Given the description of an element on the screen output the (x, y) to click on. 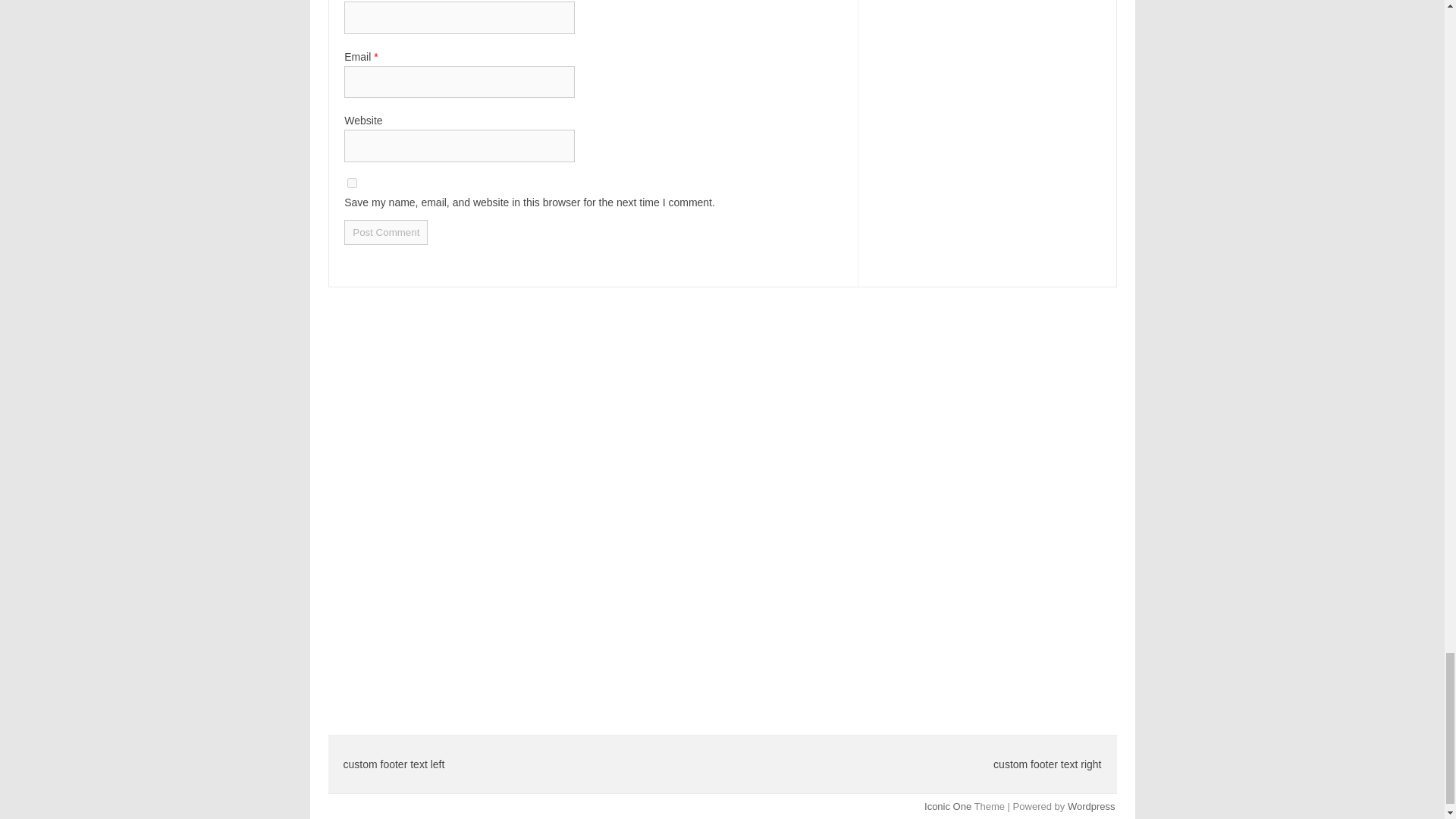
Iconic One (947, 806)
Post Comment (385, 232)
Wordpress (1091, 806)
yes (351, 183)
Post Comment (385, 232)
